Given the description of an element on the screen output the (x, y) to click on. 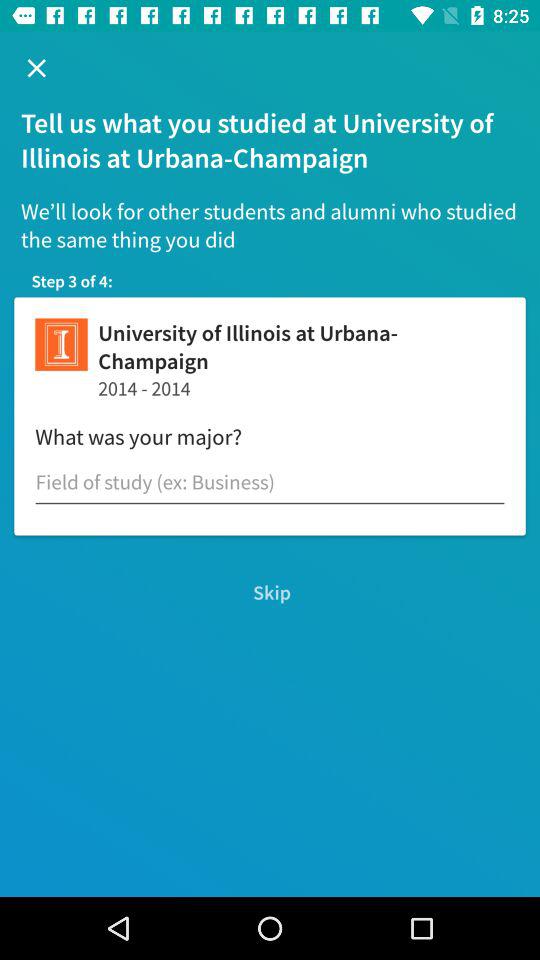
type major (269, 482)
